Given the description of an element on the screen output the (x, y) to click on. 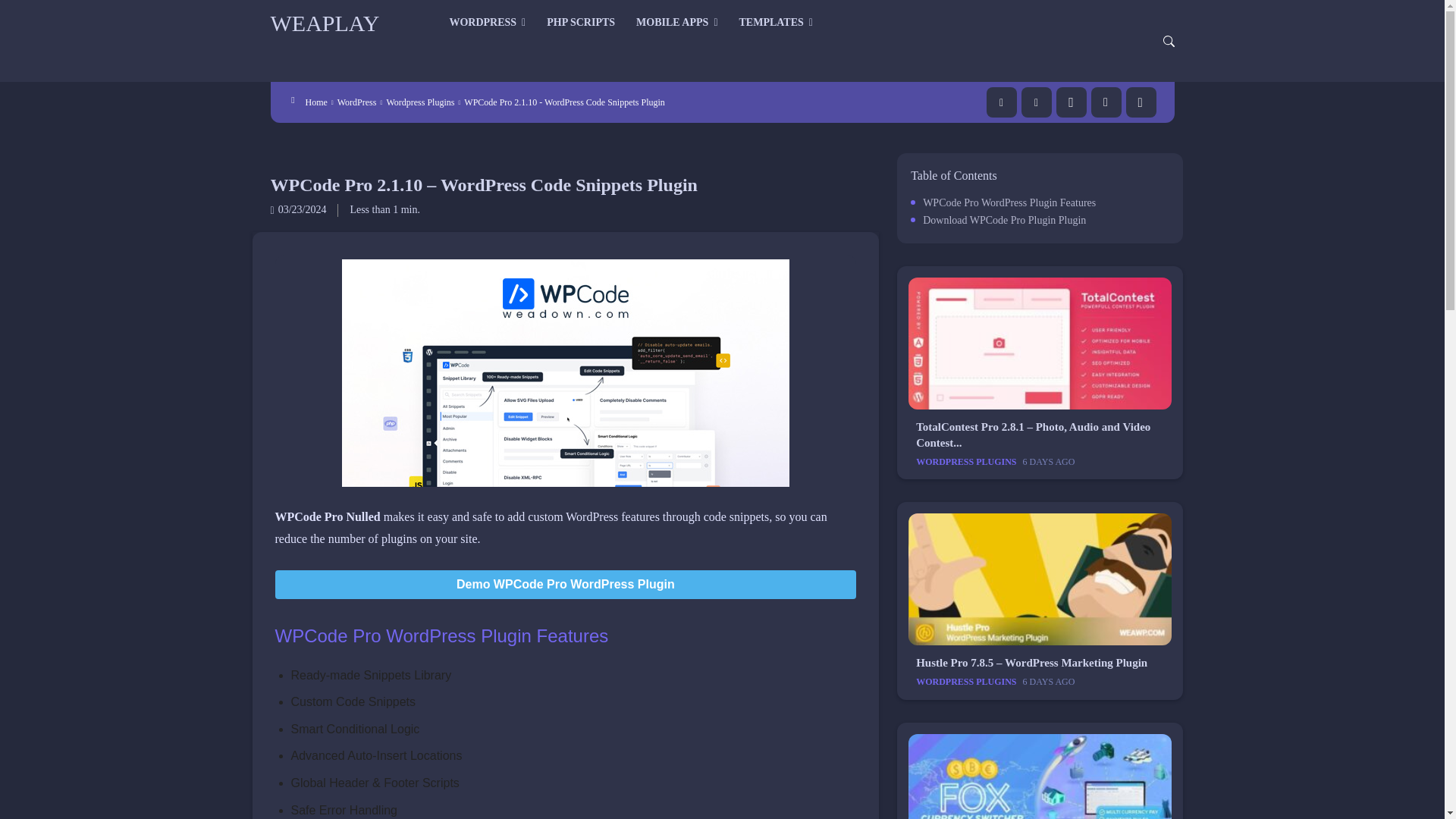
WhatsApp (1070, 101)
Facebook (1000, 101)
View all posts in WordPress (357, 102)
Twitter (1035, 101)
Telegram (1105, 101)
Copy URL (1140, 101)
View all posts in Wordpress Plugins (419, 102)
